Given the description of an element on the screen output the (x, y) to click on. 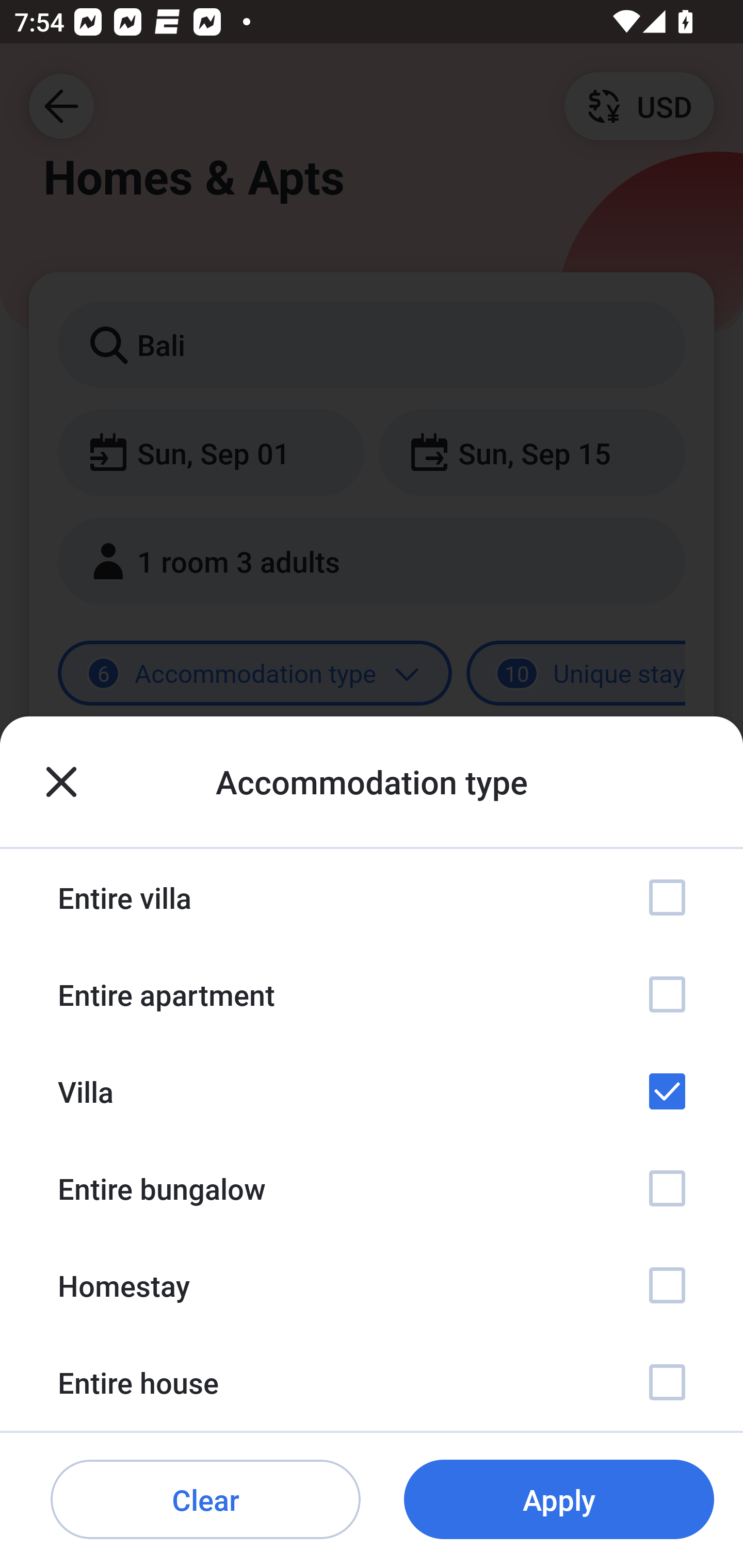
Entire villa (371, 897)
Entire apartment (371, 994)
Villa (371, 1091)
Entire bungalow (371, 1188)
Homestay (371, 1284)
Entire house (371, 1382)
Clear (205, 1499)
Apply (559, 1499)
